Given the description of an element on the screen output the (x, y) to click on. 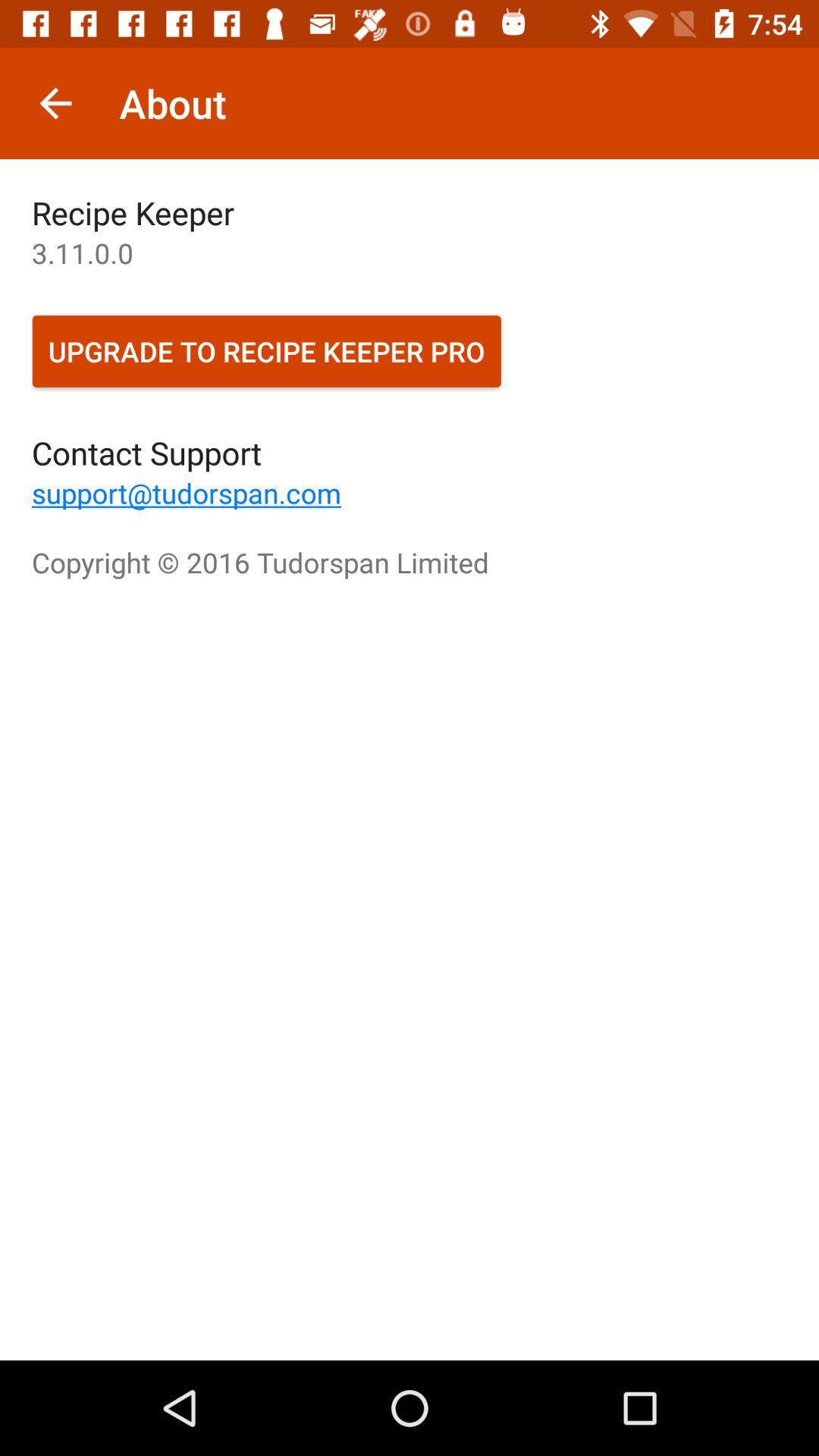
swipe to upgrade to recipe icon (266, 351)
